Given the description of an element on the screen output the (x, y) to click on. 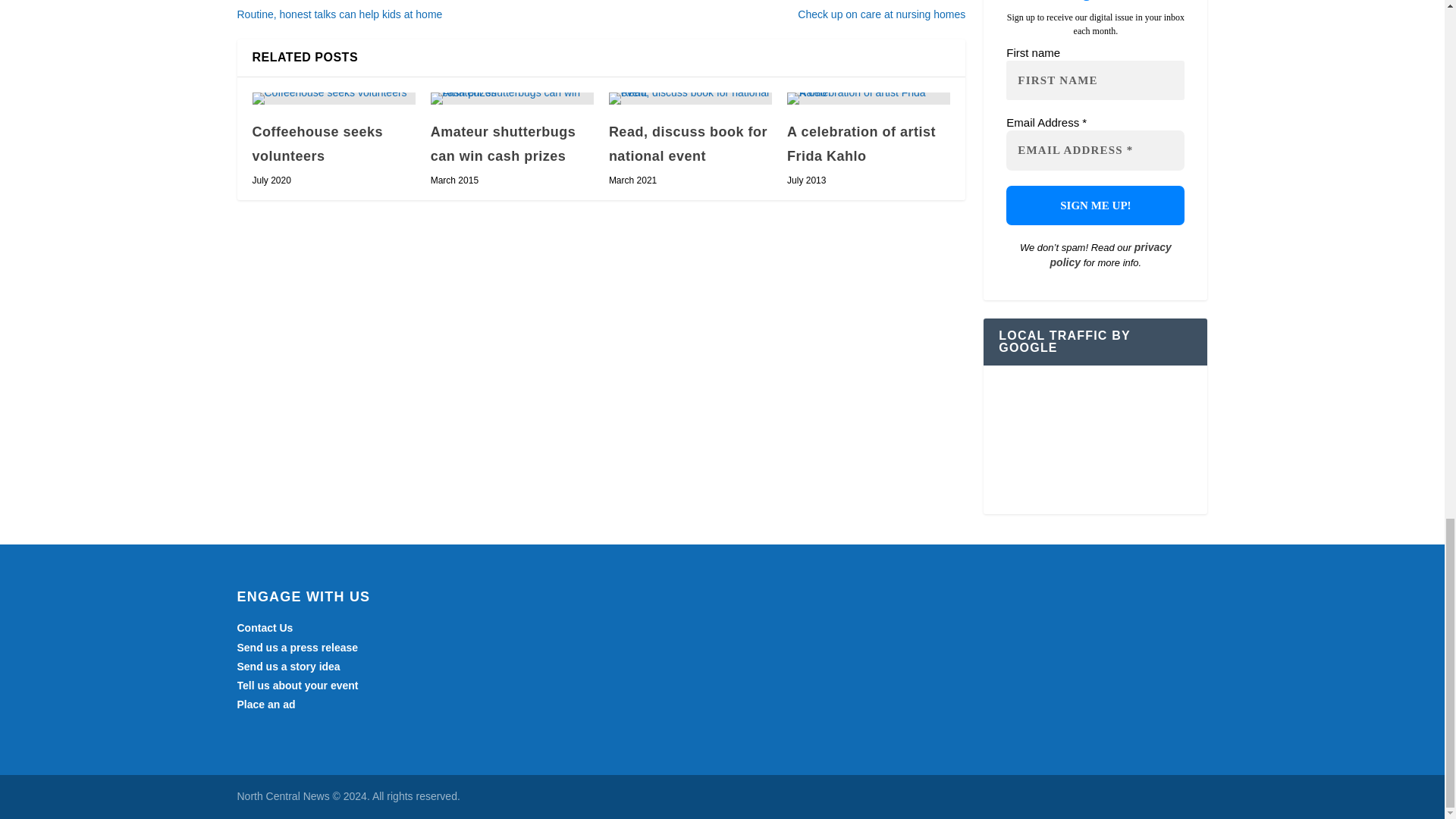
Sign me up! (1095, 205)
Coffeehouse seeks volunteers (316, 143)
Amateur shutterbugs can win cash prizes (512, 98)
A celebration of artist Frida Kahlo (868, 98)
Coffeehouse seeks volunteers (332, 98)
Read, discuss book for national event (689, 98)
